Given the description of an element on the screen output the (x, y) to click on. 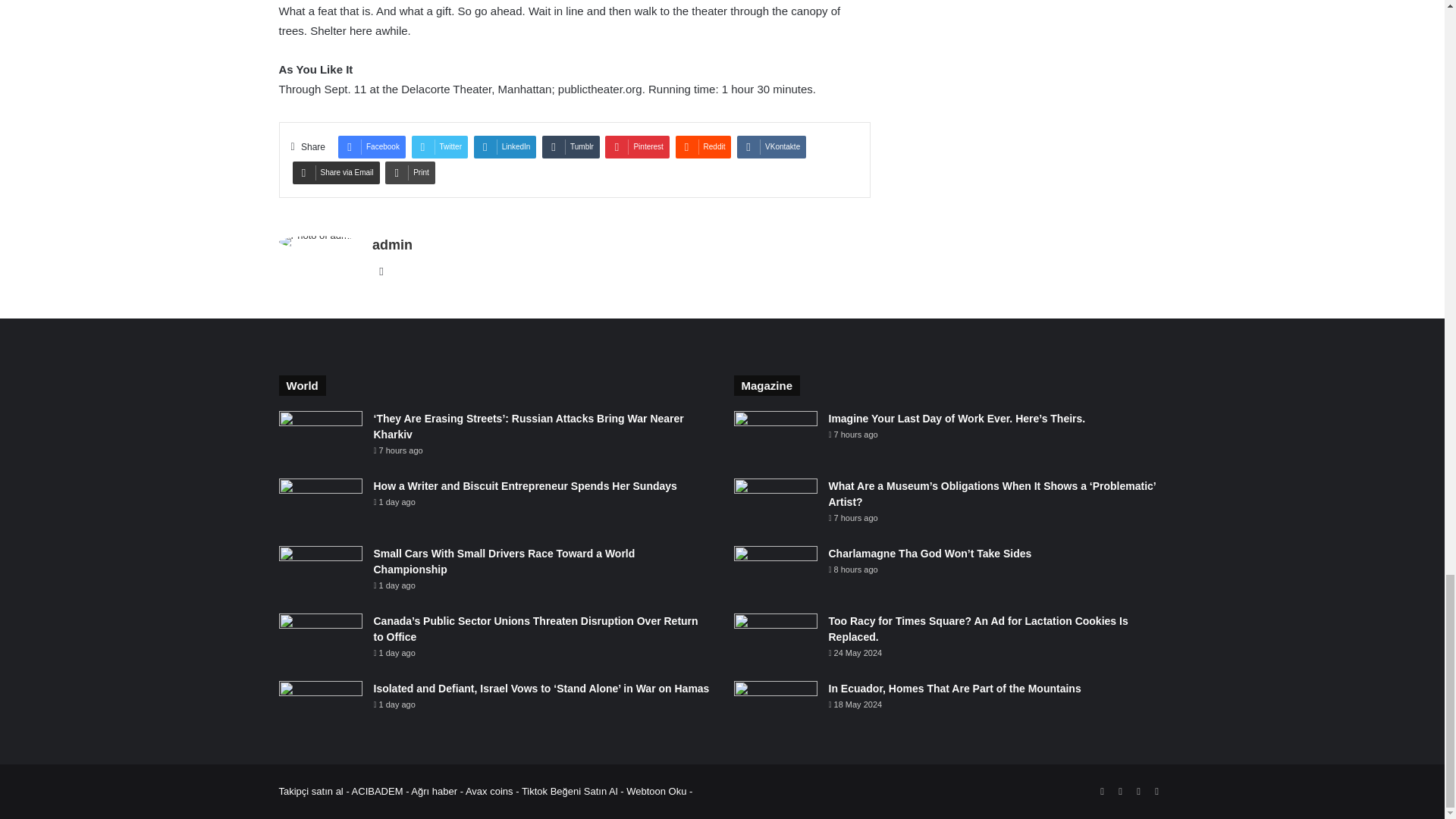
Twitter (439, 146)
Facebook (371, 146)
LinkedIn (505, 146)
Tumblr (570, 146)
